Given the description of an element on the screen output the (x, y) to click on. 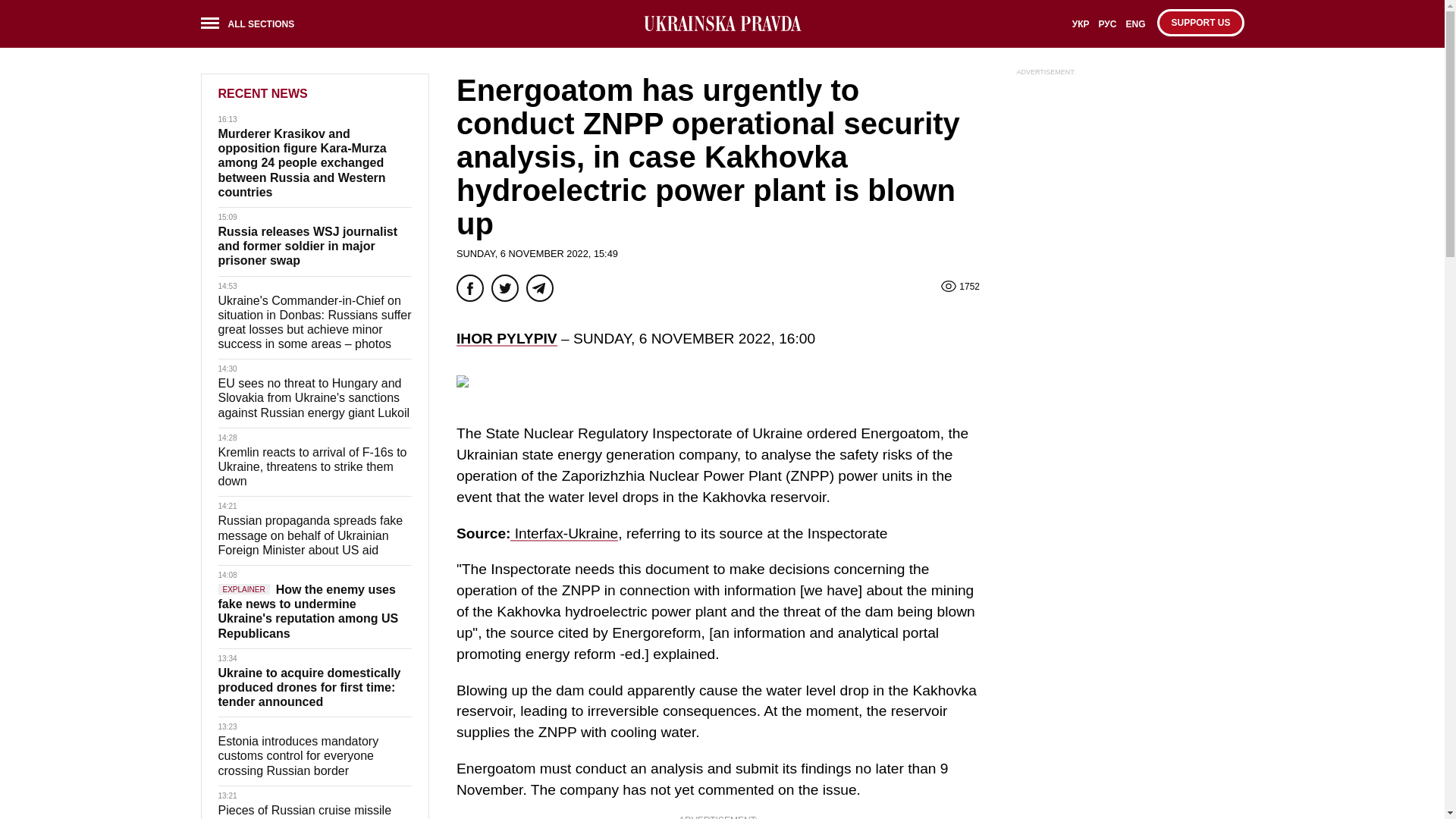
ALL SECTIONS (251, 26)
ENG (1135, 28)
Ukrainska pravda (722, 24)
IHOR PYLYPIV (507, 338)
Ukrainska pravda (722, 23)
Interfax-Ukraine (564, 533)
SUPPORT US (1200, 22)
